Given the description of an element on the screen output the (x, y) to click on. 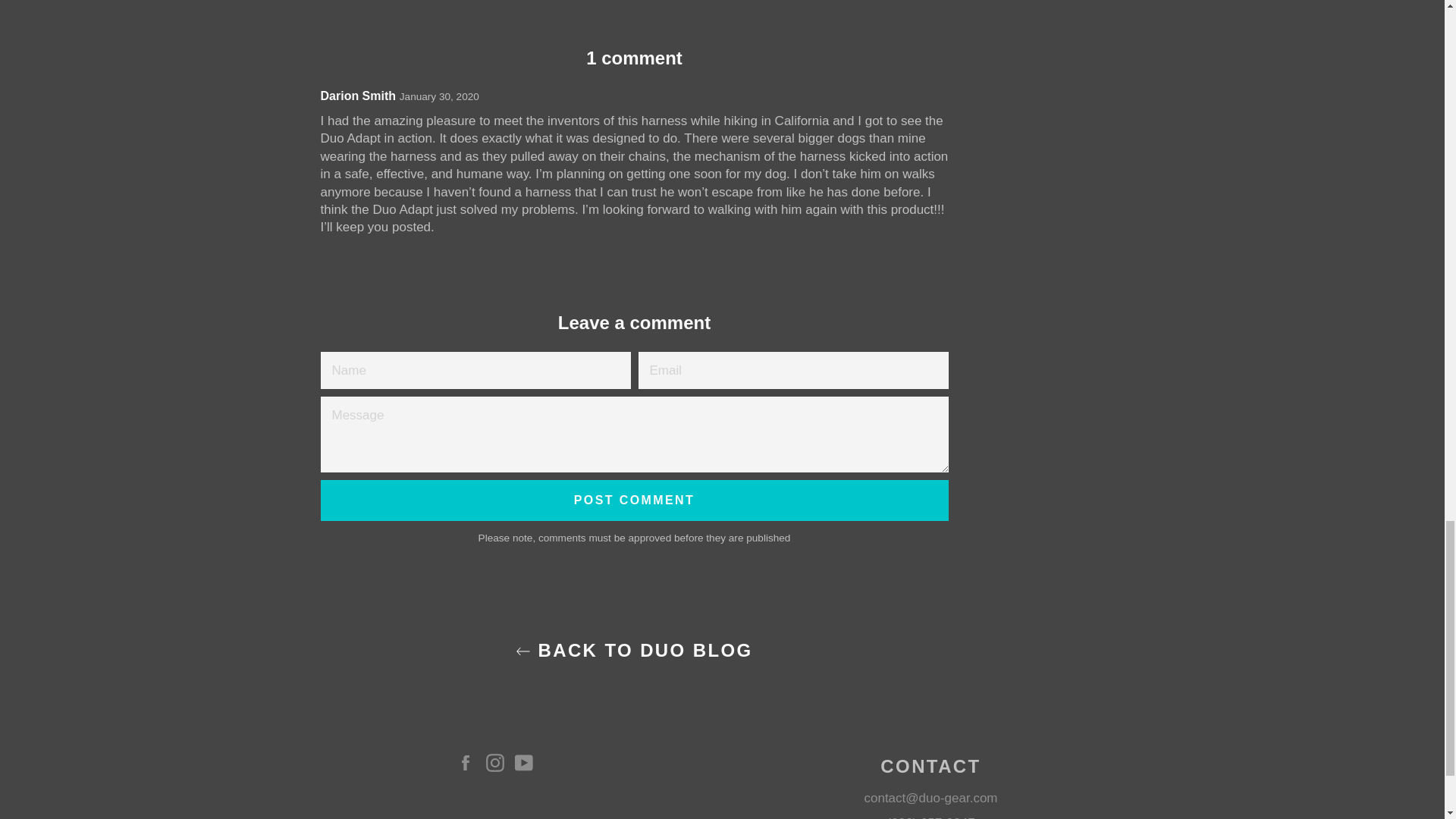
DUO TECHNICAL GEAR on Facebook (469, 763)
Post comment (633, 499)
DUO TECHNICAL GEAR on YouTube (527, 763)
BACK TO DUO BLOG (633, 650)
Post comment (633, 499)
DUO TECHNICAL GEAR on Instagram (497, 763)
